Given the description of an element on the screen output the (x, y) to click on. 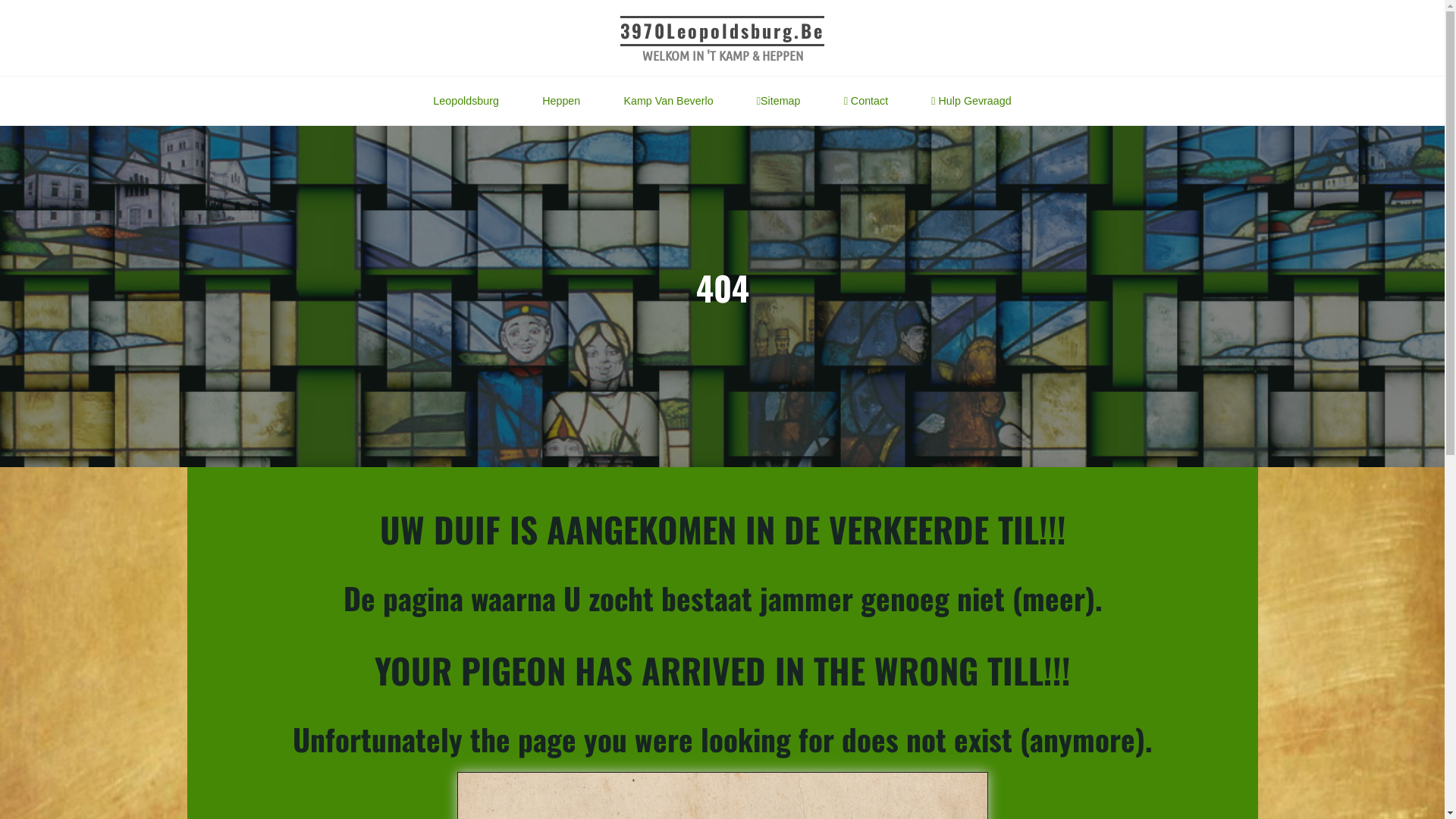
Heppen Element type: text (561, 100)
3970Leopoldsburg.Be Element type: text (722, 29)
Kamp Van Beverlo Element type: text (668, 100)
Leopoldsburg Element type: text (465, 100)
